Given the description of an element on the screen output the (x, y) to click on. 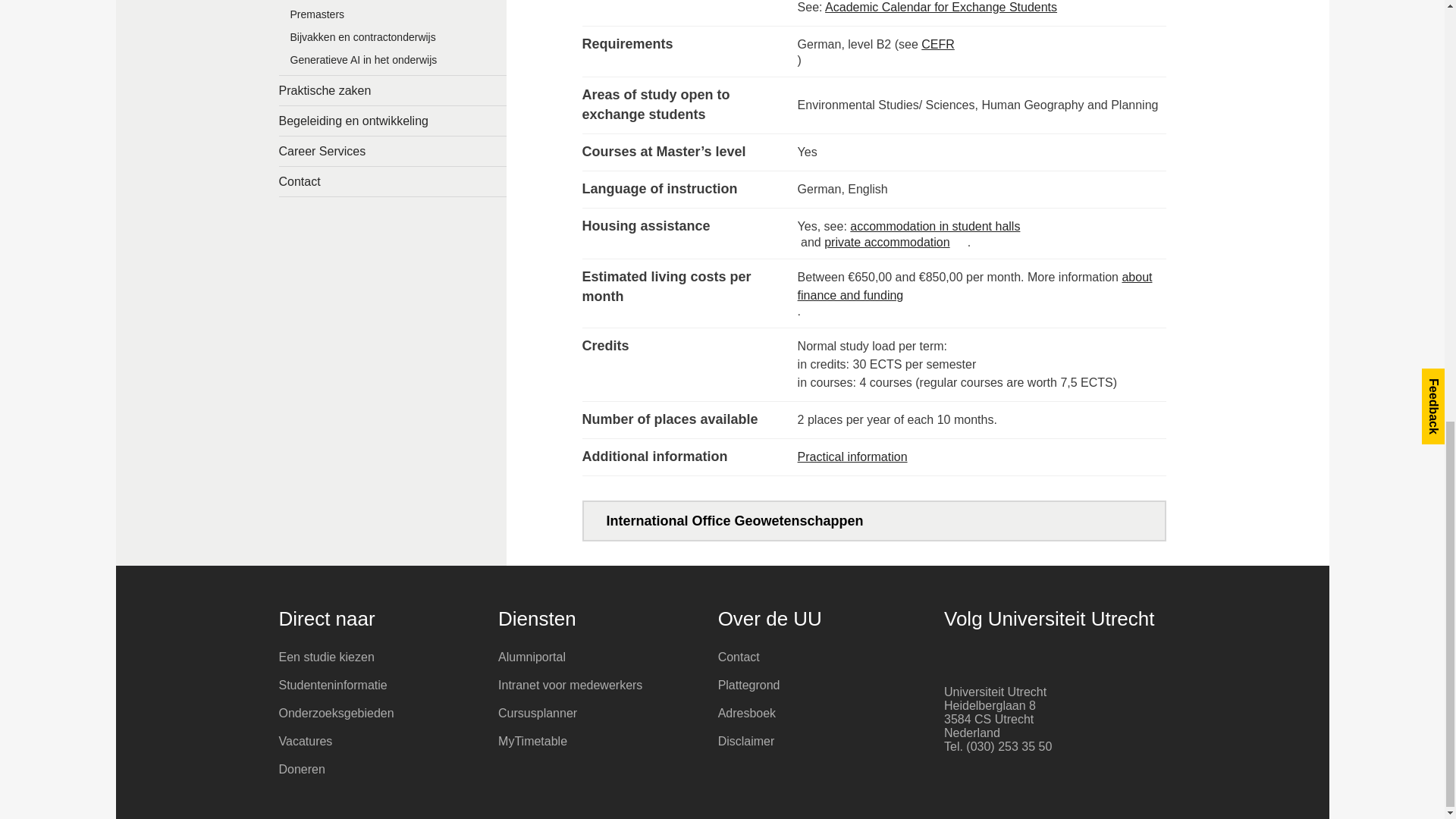
Informatie voor premasterstudenten (392, 17)
